Given the description of an element on the screen output the (x, y) to click on. 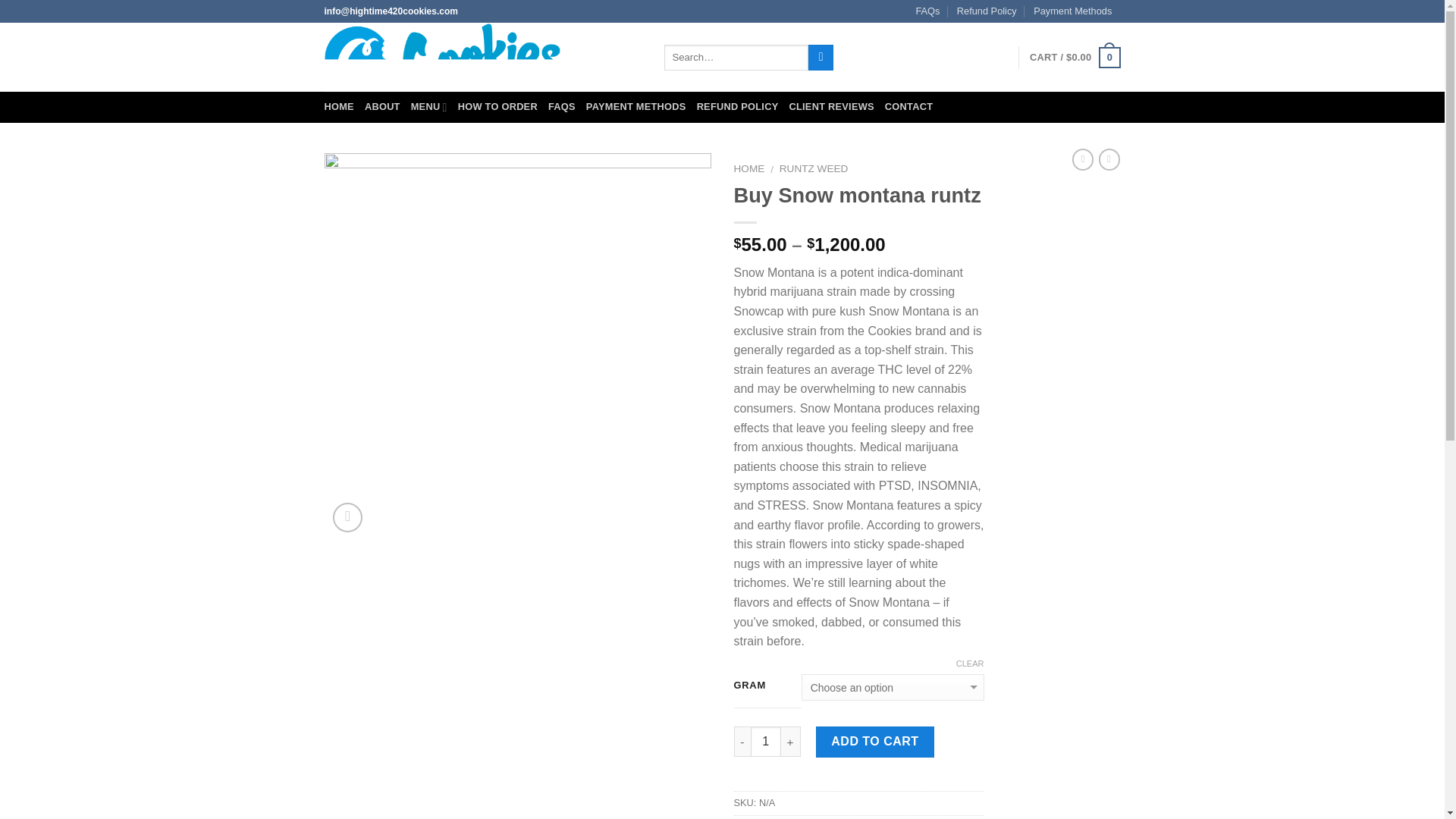
Zoom (347, 517)
Cart (1074, 57)
MENU (428, 106)
1 (765, 741)
FAQS (561, 106)
CONTACT (909, 106)
HOME (338, 106)
PAYMENT METHODS (635, 106)
REFUND POLICY (737, 106)
Qty (765, 741)
ABOUT (382, 106)
HOW TO ORDER (497, 106)
CLIENT REVIEWS (831, 106)
CLEAR (970, 663)
